Given the description of an element on the screen output the (x, y) to click on. 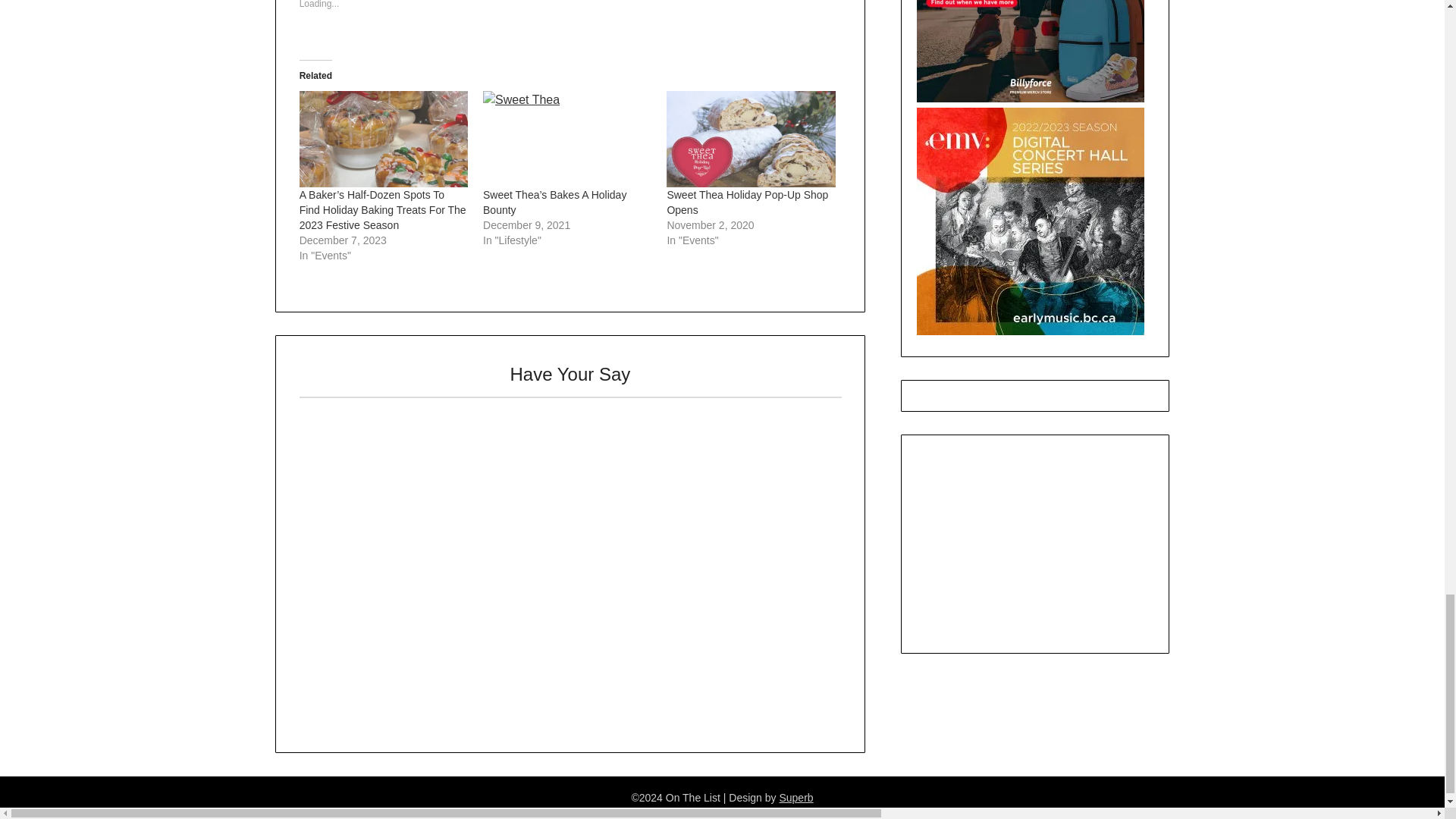
Sweet Thea Holiday Pop-Up Shop Opens (747, 202)
Sweet Thea Holiday Pop-Up Shop Opens (747, 202)
Sweet Thea Holiday Pop-Up Shop Opens (750, 138)
